Given the description of an element on the screen output the (x, y) to click on. 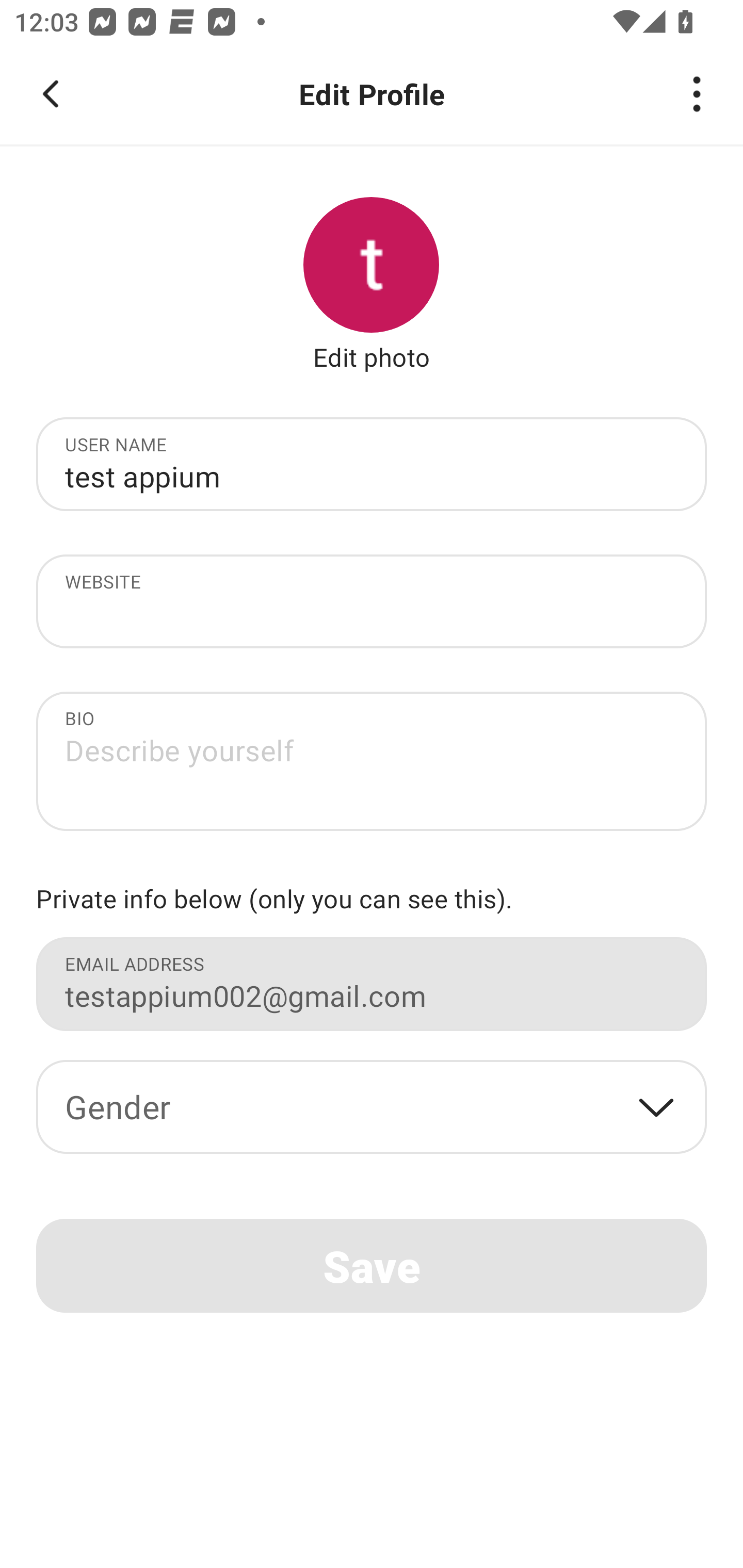
Navigate up (50, 93)
Edit photo (371, 356)
test appium (371, 475)
Describe yourself (371, 766)
Gender (371, 1106)
